Given the description of an element on the screen output the (x, y) to click on. 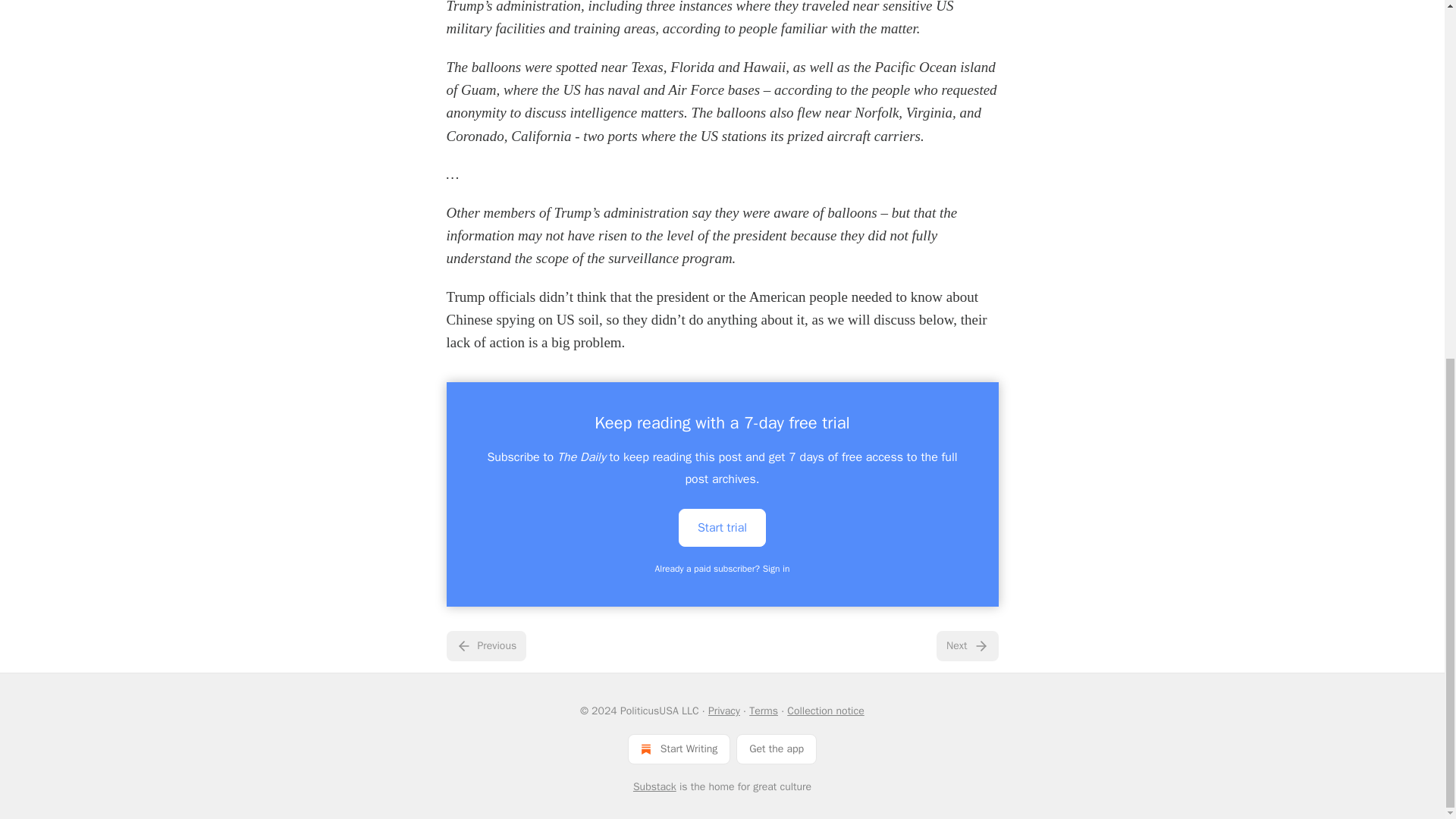
Substack (655, 786)
Collection notice (825, 710)
Start trial (721, 527)
Already a paid subscriber? Sign in (722, 568)
Start trial (721, 526)
Get the app (776, 748)
Terms (763, 710)
Next (966, 645)
Start Writing (678, 748)
Privacy (723, 710)
